Given the description of an element on the screen output the (x, y) to click on. 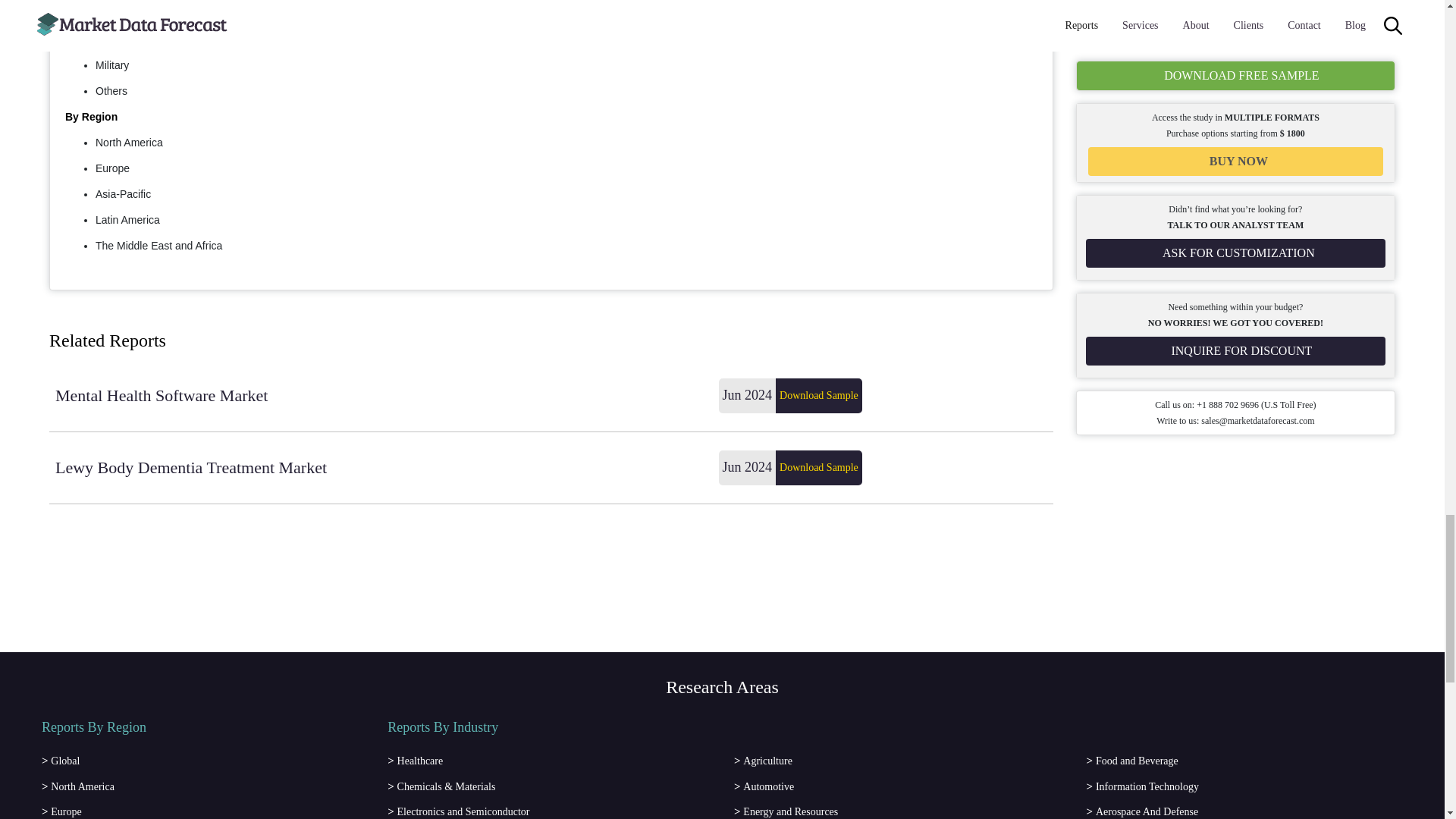
Mental Health Software Market (381, 395)
